Given the description of an element on the screen output the (x, y) to click on. 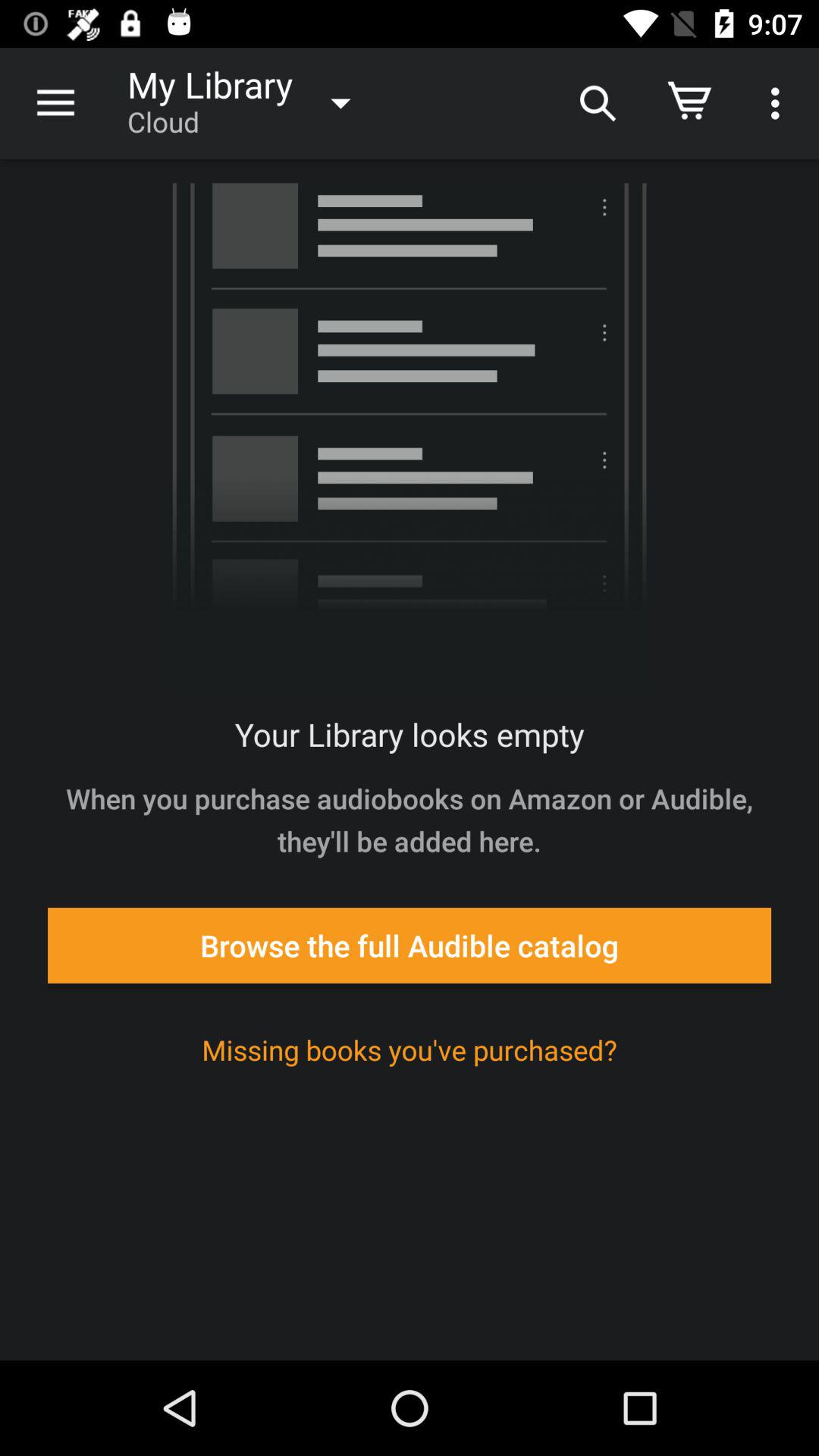
flip until the browse the full icon (409, 945)
